Given the description of an element on the screen output the (x, y) to click on. 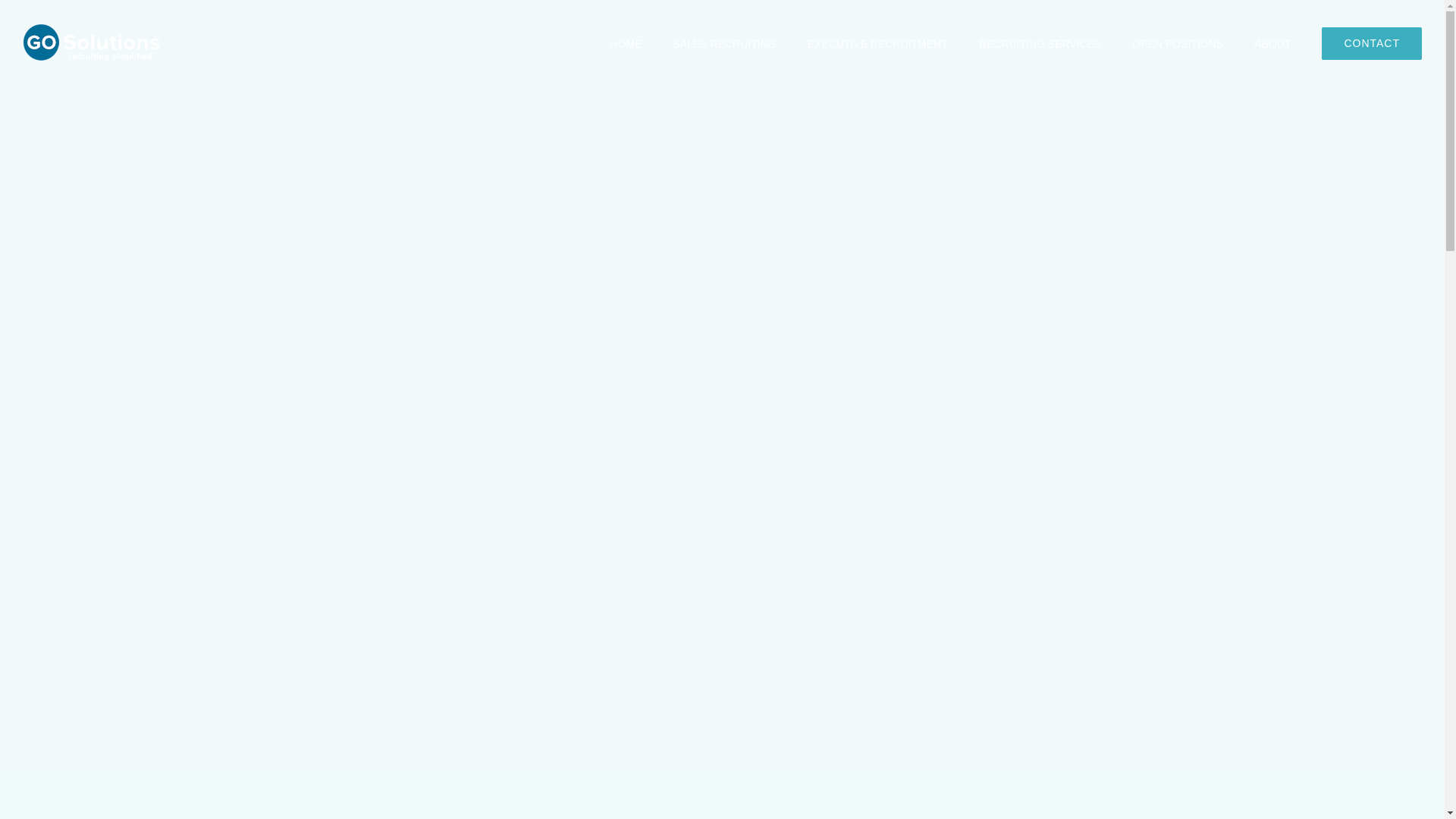
EXECUTIVE RECRUITMENT (877, 43)
RECRUITING SERVICES (1040, 43)
SALES RECRUITING (724, 43)
CONTACT (1372, 43)
OPEN POSITIONS (1177, 43)
